Given the description of an element on the screen output the (x, y) to click on. 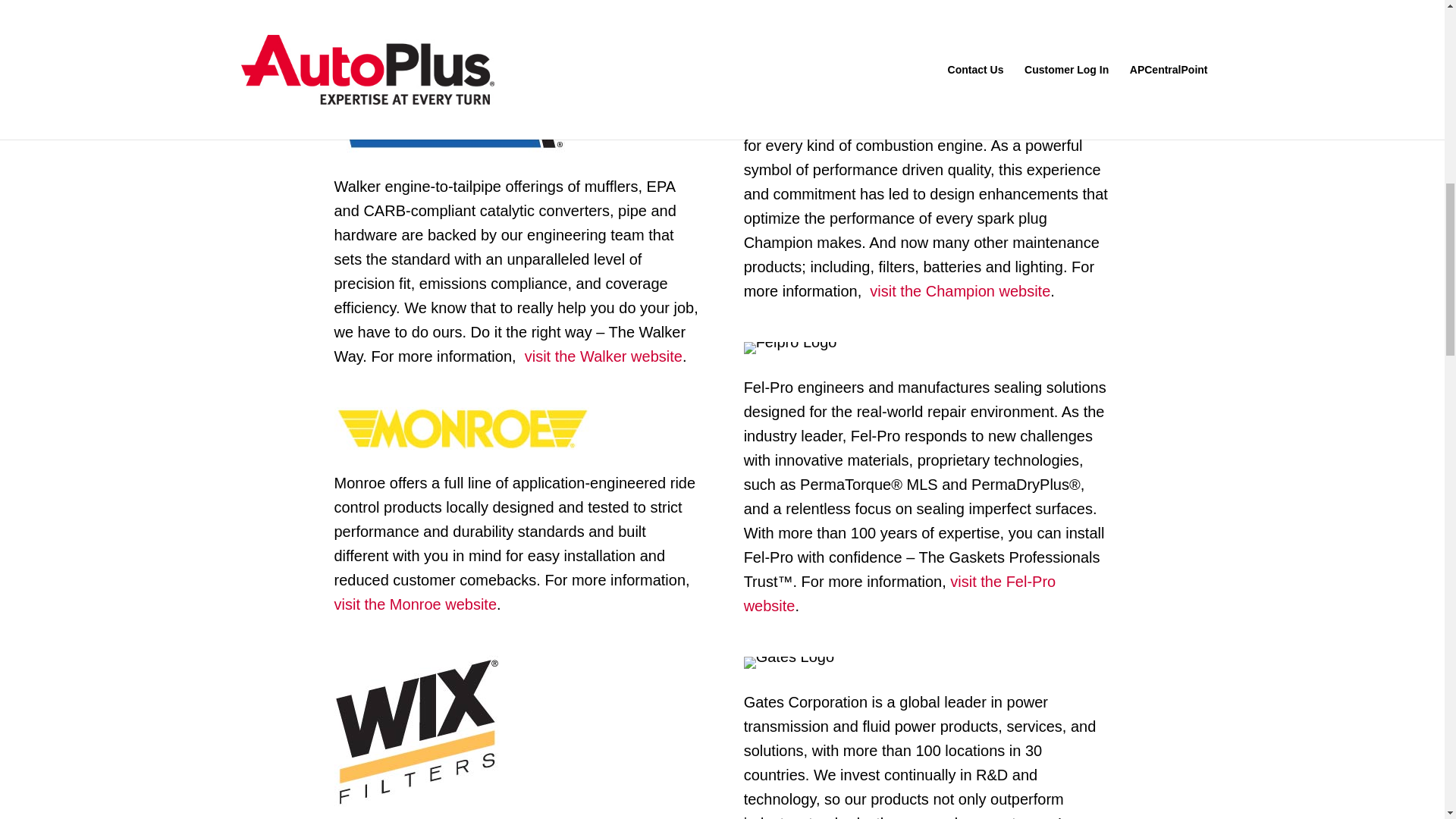
champion (803, 56)
wix (416, 732)
felpro (790, 347)
gates (789, 662)
walker (450, 121)
visit the Wagner website (926, 4)
monroe (461, 428)
 visit the Walker website (600, 356)
visit the Monroe website (414, 604)
 visit the Champion website (957, 290)
visit the Fel-Pro website (900, 593)
 visit the Moog website (514, 28)
